Given the description of an element on the screen output the (x, y) to click on. 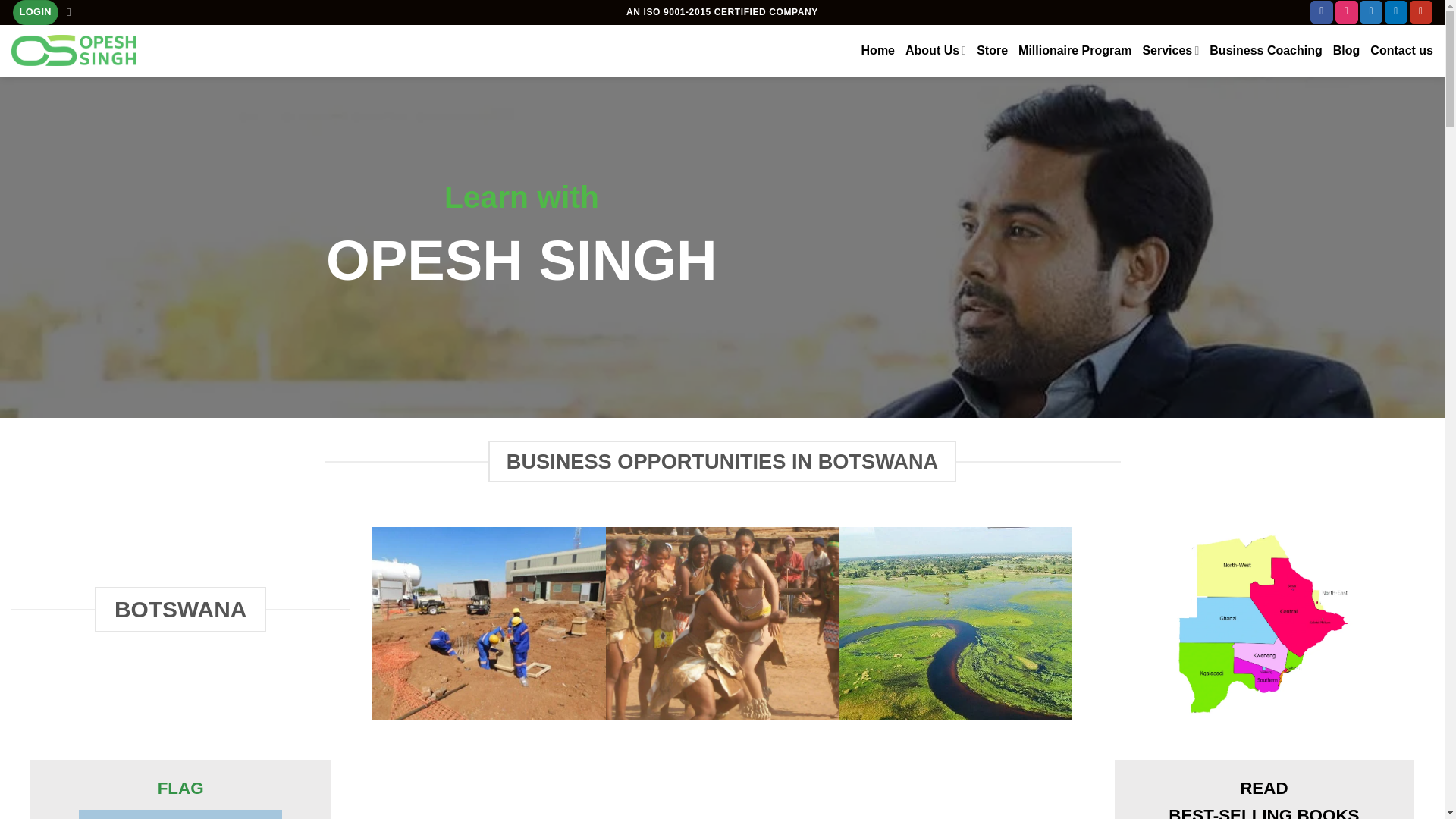
LOGIN (35, 12)
Contact us (1401, 50)
About Us (935, 50)
Blog (1346, 50)
Services (1169, 50)
Home (878, 50)
Store (991, 50)
Millionaire Program (1074, 50)
Business Coaching (1265, 50)
